Given the description of an element on the screen output the (x, y) to click on. 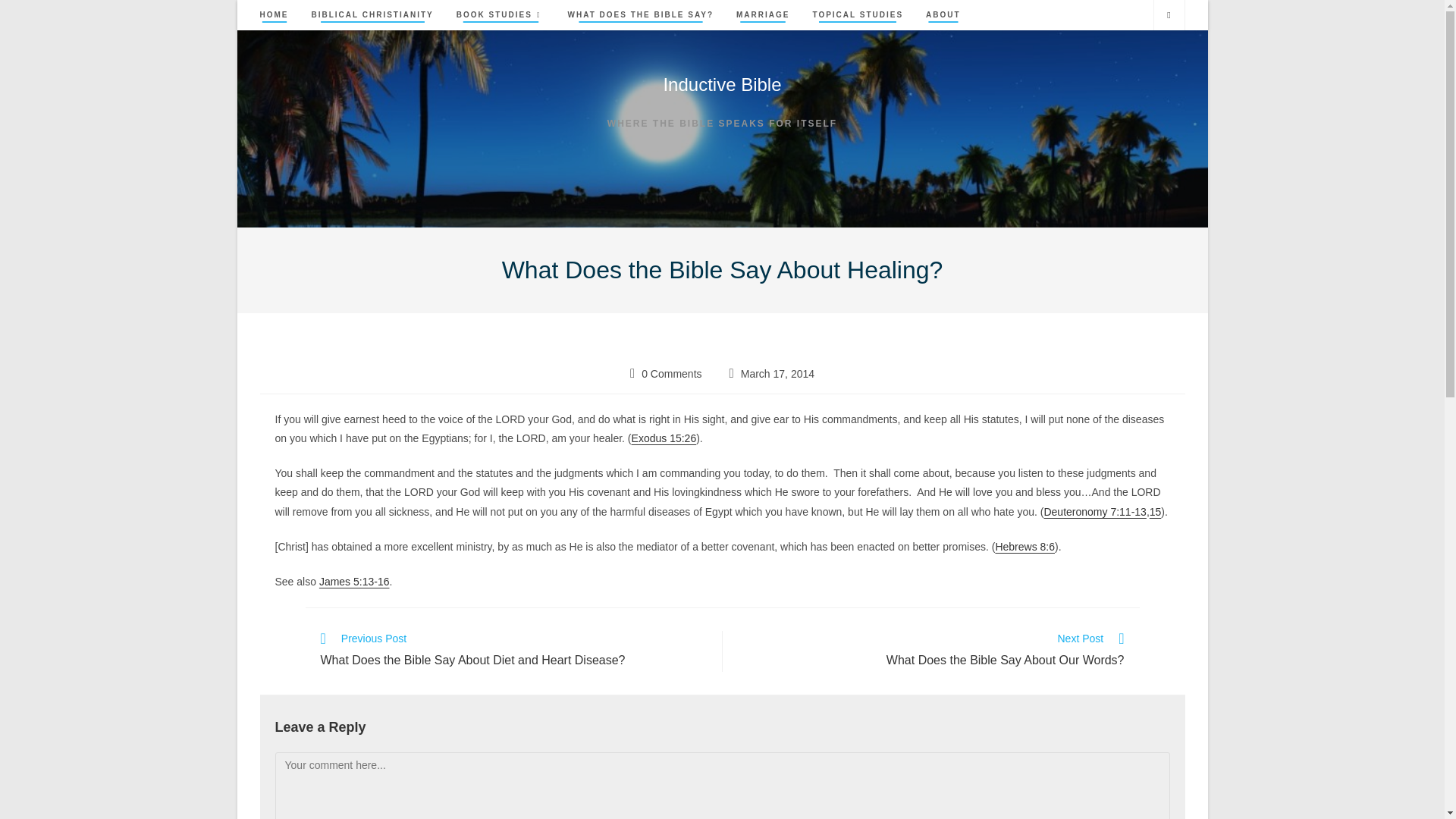
HOME (273, 15)
WHAT DOES THE BIBLE SAY? (640, 15)
TOPICAL STUDIES (857, 15)
BIBLICAL CHRISTIANITY (372, 15)
BOOK STUDIES (500, 15)
MARRIAGE (762, 15)
ABOUT (943, 15)
